Given the description of an element on the screen output the (x, y) to click on. 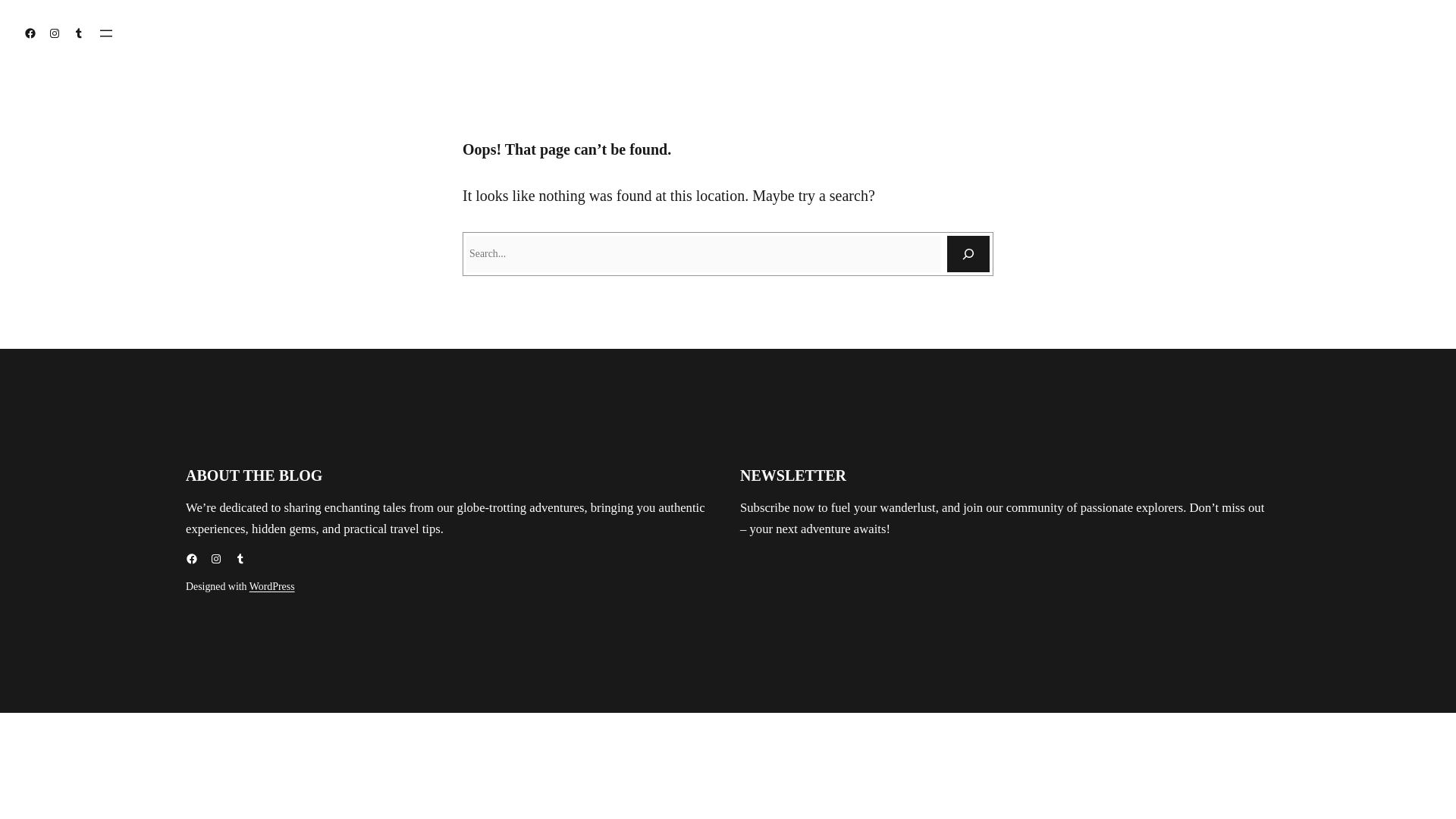
Instagram (54, 33)
Tumblr (240, 558)
Instagram (215, 558)
Facebook (192, 558)
WordPress (271, 586)
Facebook (30, 33)
Tumblr (78, 33)
